Given the description of an element on the screen output the (x, y) to click on. 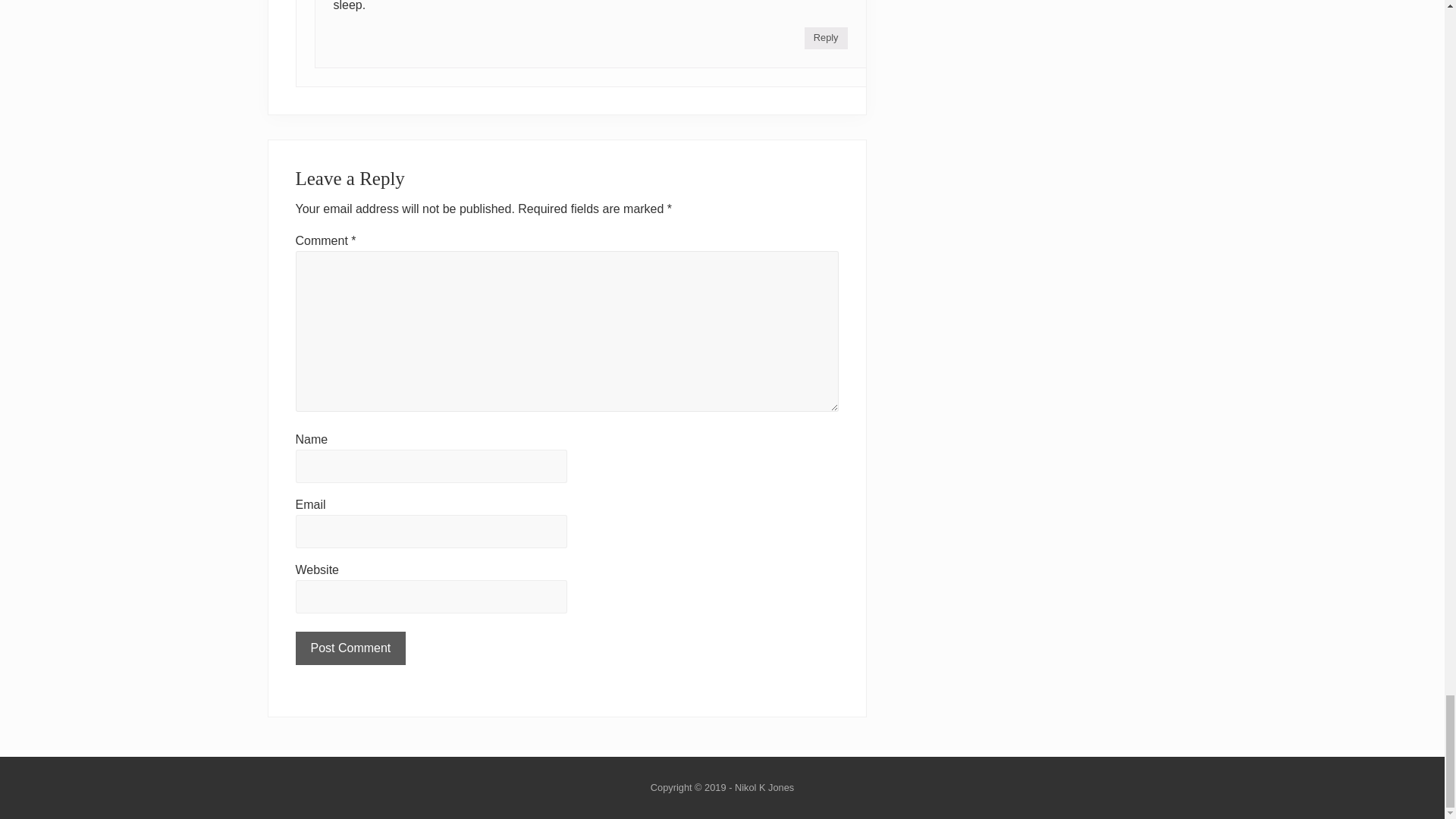
Reply (826, 38)
Post Comment (350, 648)
Post Comment (350, 648)
